Given the description of an element on the screen output the (x, y) to click on. 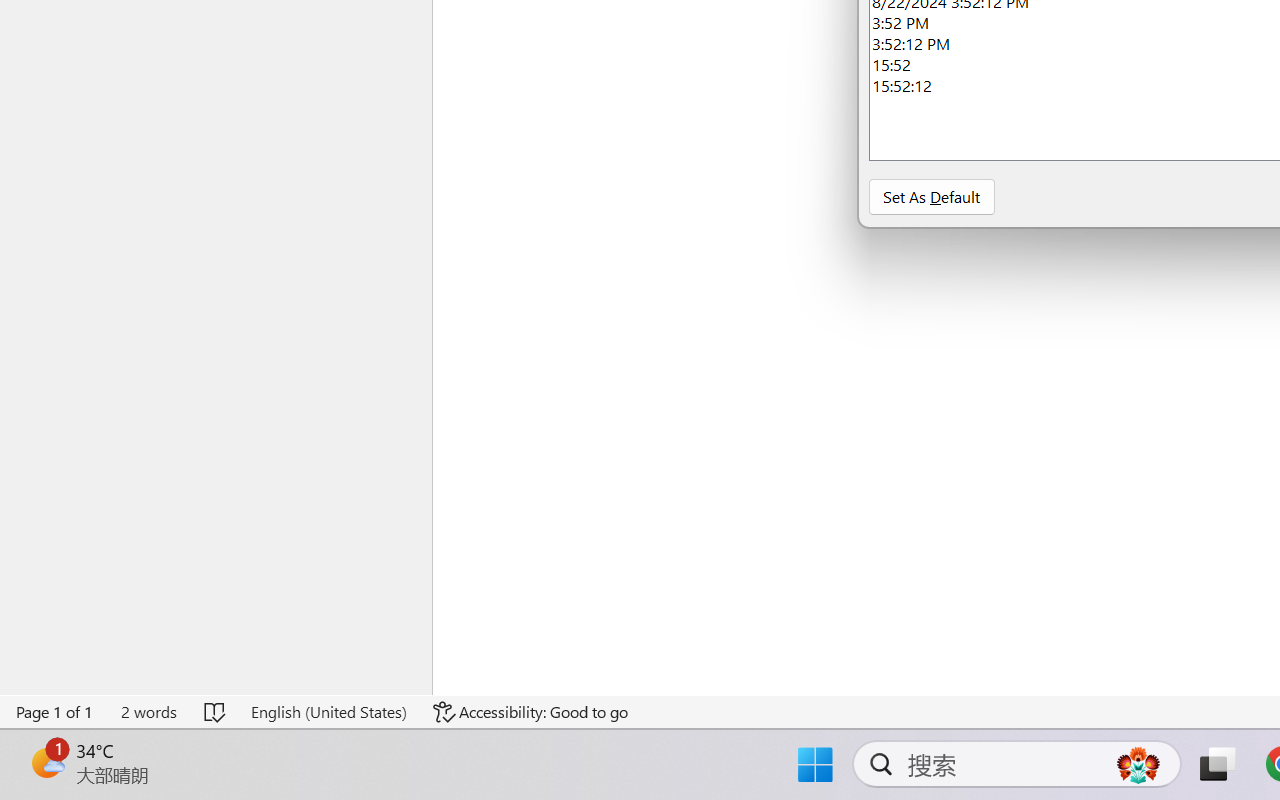
AutomationID: BadgeAnchorLargeTicker (46, 762)
Language English (United States) (328, 712)
Accessibility Checker Accessibility: Good to go (531, 712)
Set As Default (931, 196)
Spelling and Grammar Check No Errors (216, 712)
AutomationID: DynamicSearchBoxGleamImage (1138, 764)
Page Number Page 1 of 1 (55, 712)
